Given the description of an element on the screen output the (x, y) to click on. 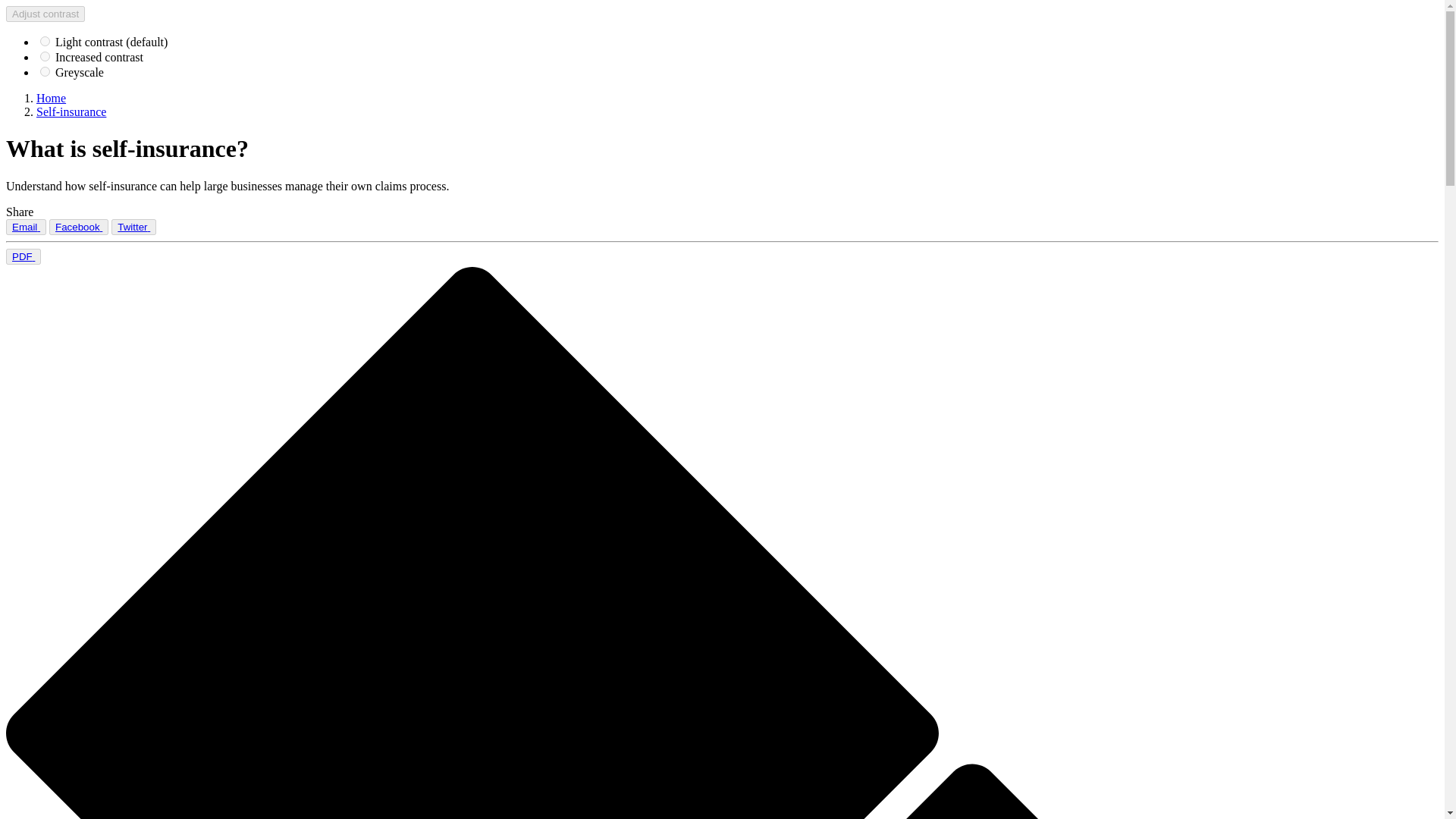
default (44, 40)
Twitter (133, 227)
Adjust contrast (44, 13)
PDF (22, 256)
Twitter (133, 226)
Home (50, 97)
PDF (22, 256)
grayscale (44, 71)
Self-insurance (71, 111)
Facebook (78, 227)
